Given the description of an element on the screen output the (x, y) to click on. 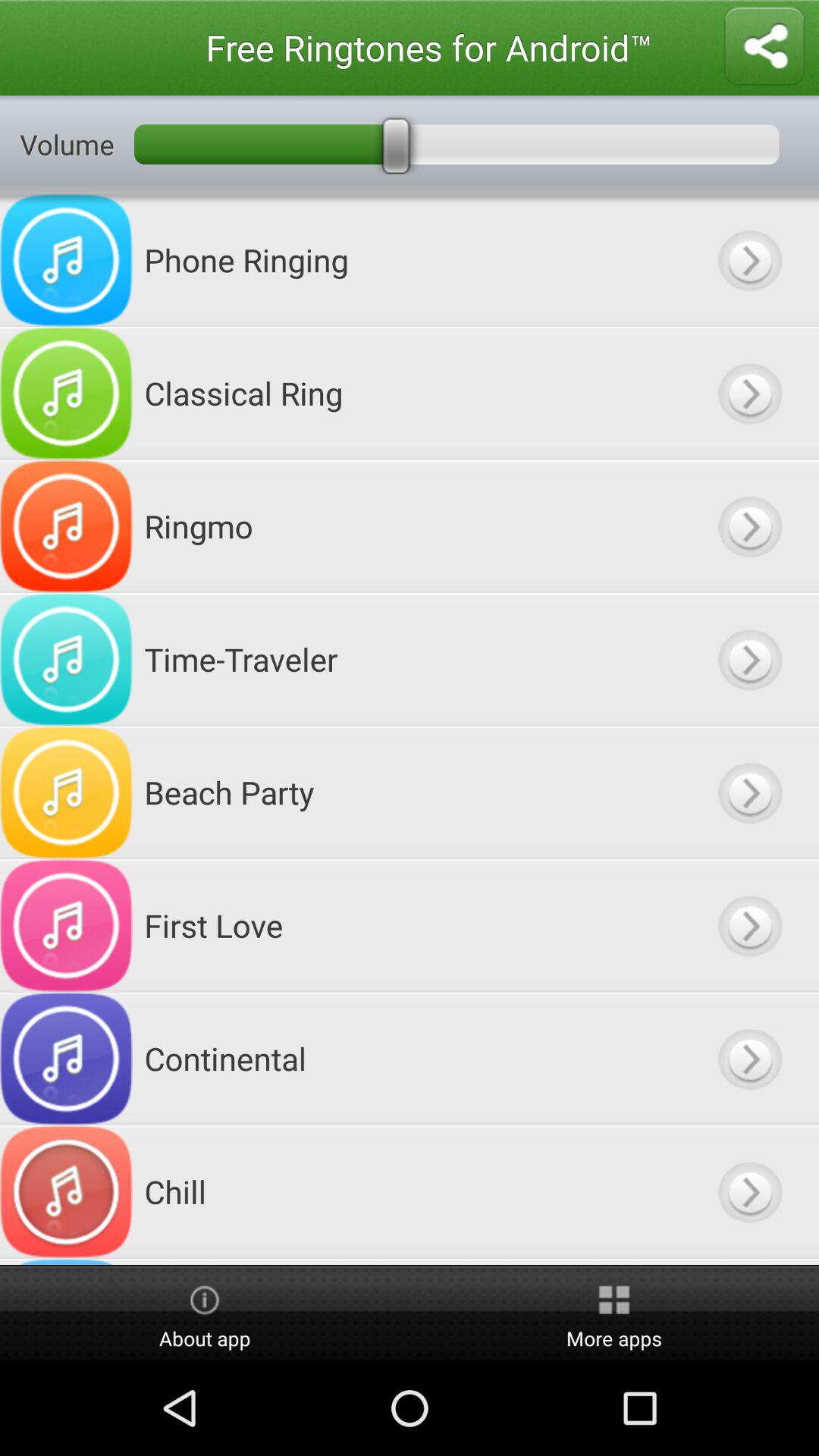
share the app with other 's (764, 47)
